Given the description of an element on the screen output the (x, y) to click on. 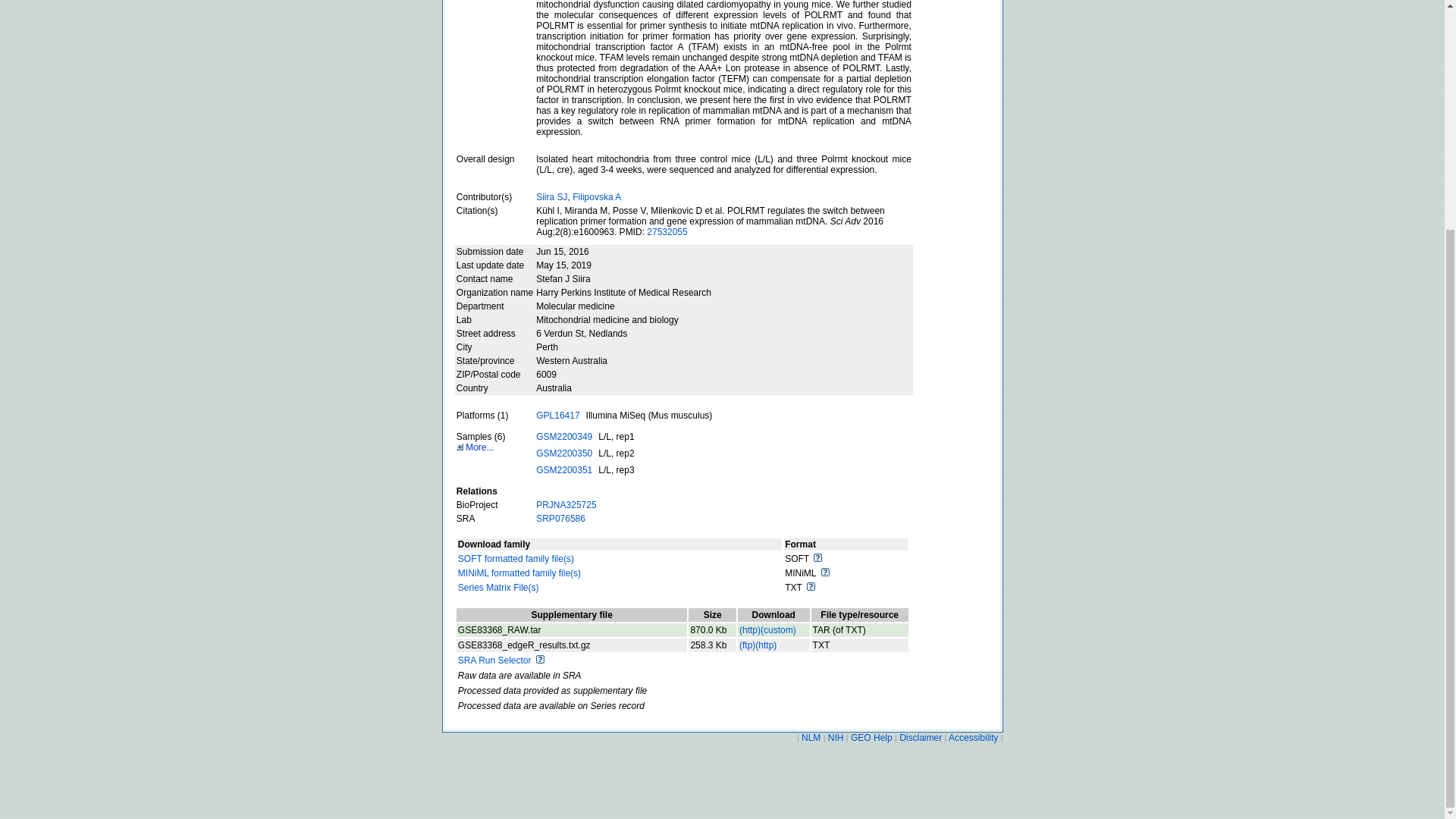
GSM2200350 (563, 452)
890880 (712, 630)
Link to PubMed record (666, 231)
PRJNA325725 (565, 504)
Siira SJ (551, 196)
GSM2200349 (563, 436)
GPL16417 (557, 415)
SRP076586 (560, 518)
27532055 (666, 231)
GSM2200351 (563, 470)
 More... (476, 447)
264471 (712, 644)
Filipovska A (596, 196)
